Given the description of an element on the screen output the (x, y) to click on. 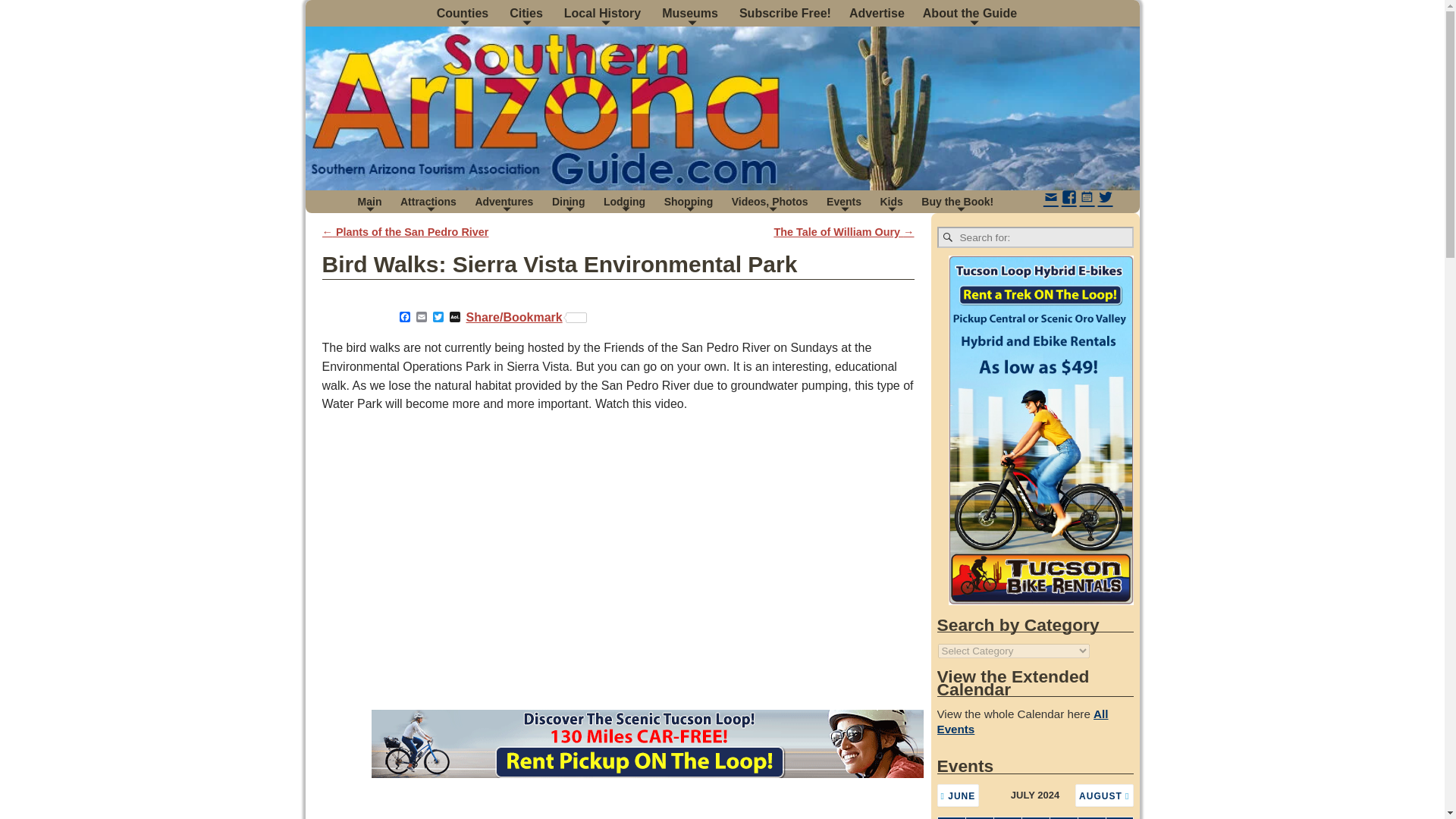
Cities (527, 13)
Counties (464, 13)
Local History (603, 13)
Counties (464, 13)
Select Cities (527, 13)
